Given the description of an element on the screen output the (x, y) to click on. 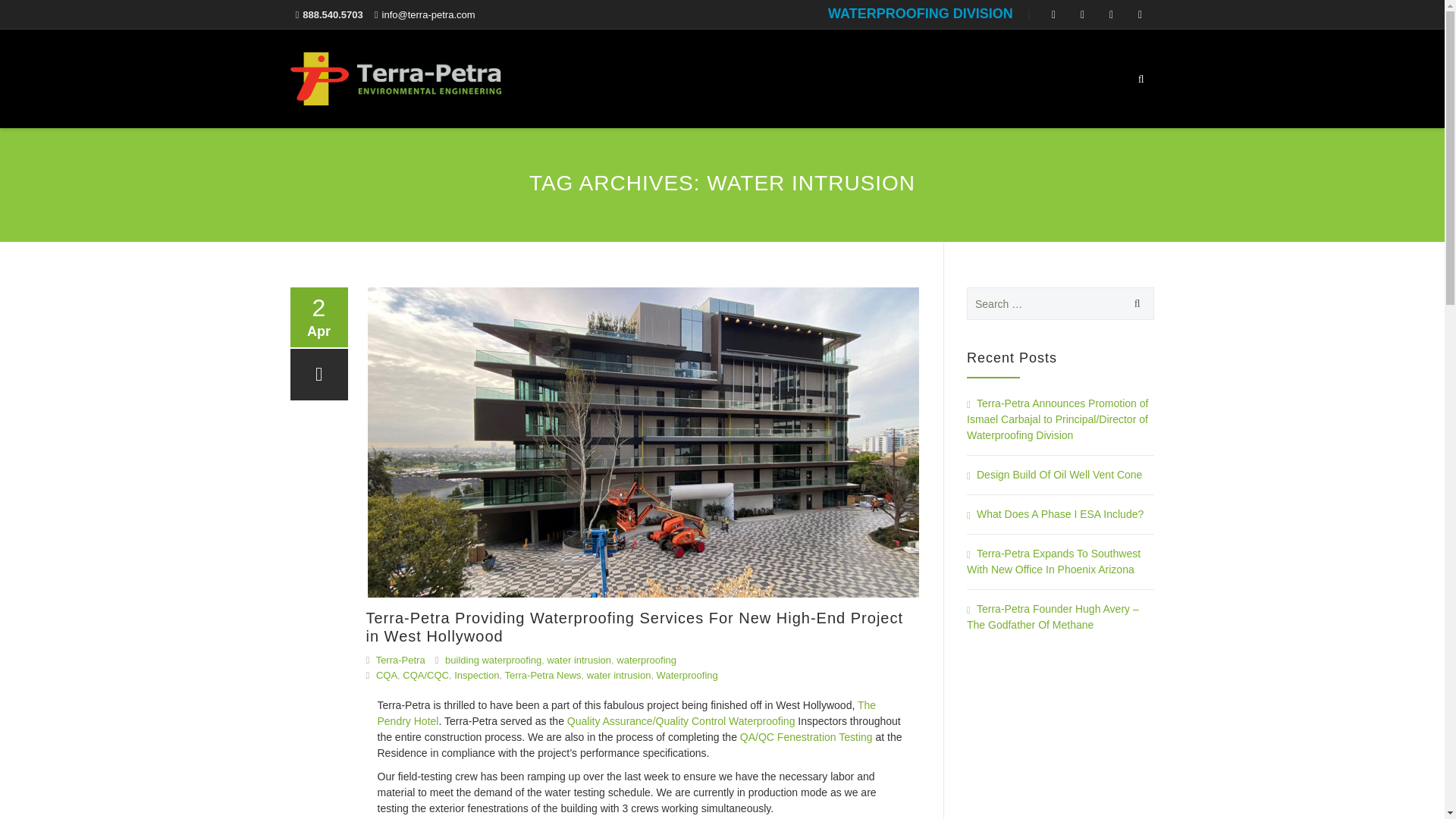
Twitter (1053, 14)
Facebook (1081, 14)
LinkedIn (1110, 14)
WATERPROOFING DIVISION (920, 13)
View all posts by Terra-Petra (400, 659)
Search (1134, 302)
Terra-Petra (394, 78)
FEATURED PROJECTS (926, 78)
Search (1134, 302)
